Given the description of an element on the screen output the (x, y) to click on. 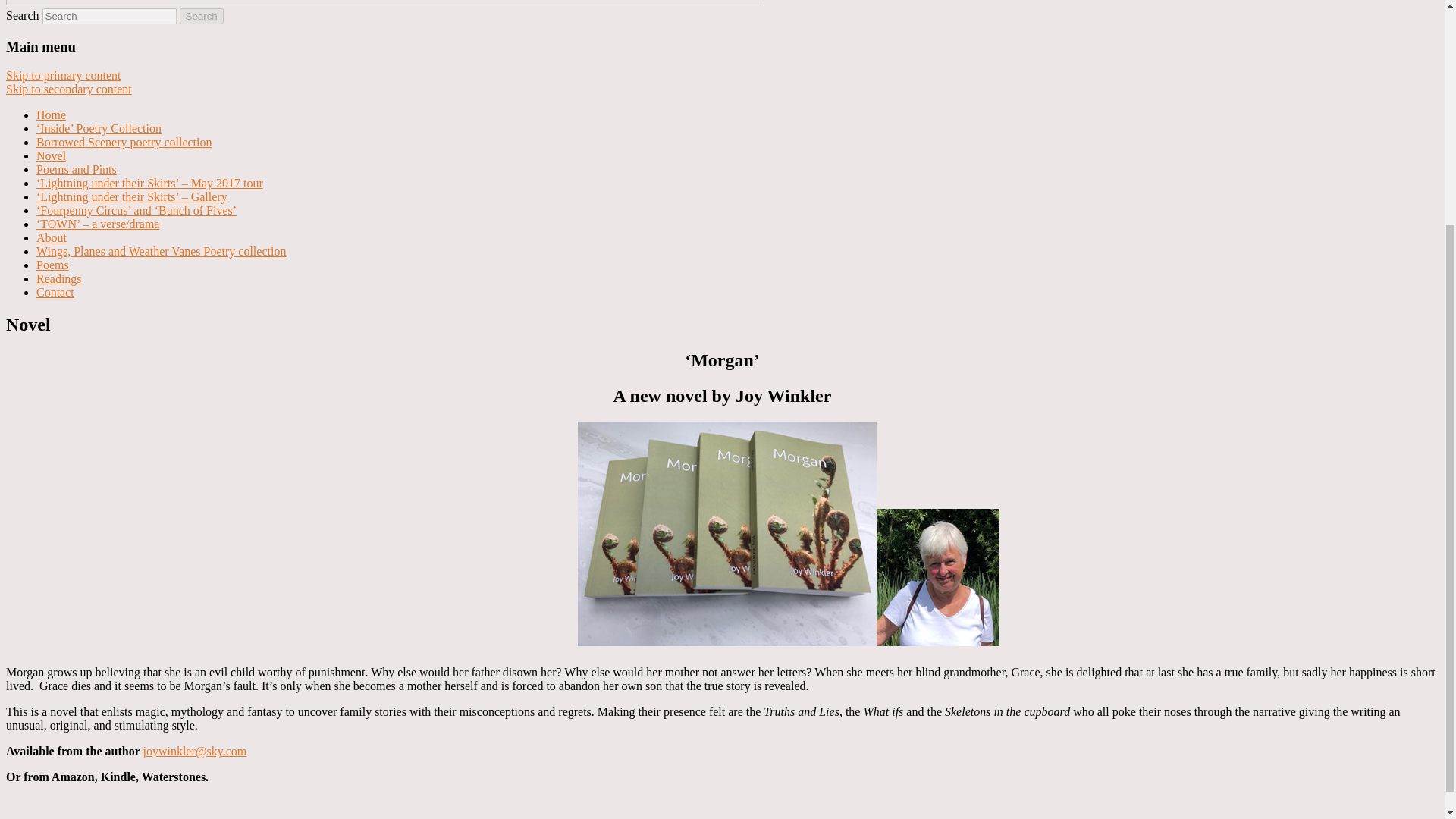
Poems and Pints (76, 169)
Skip to secondary content (68, 88)
Home (50, 114)
Novel (50, 155)
Home (50, 114)
Skip to primary content (62, 74)
Search (201, 16)
Skip to secondary content (68, 88)
Borrowed Scenery poetry collection (123, 141)
Search (201, 16)
About (51, 237)
Wings, Planes and Weather Vanes Poetry collection (160, 250)
Contact (55, 291)
Poems (52, 264)
Skip to primary content (62, 74)
